Given the description of an element on the screen output the (x, y) to click on. 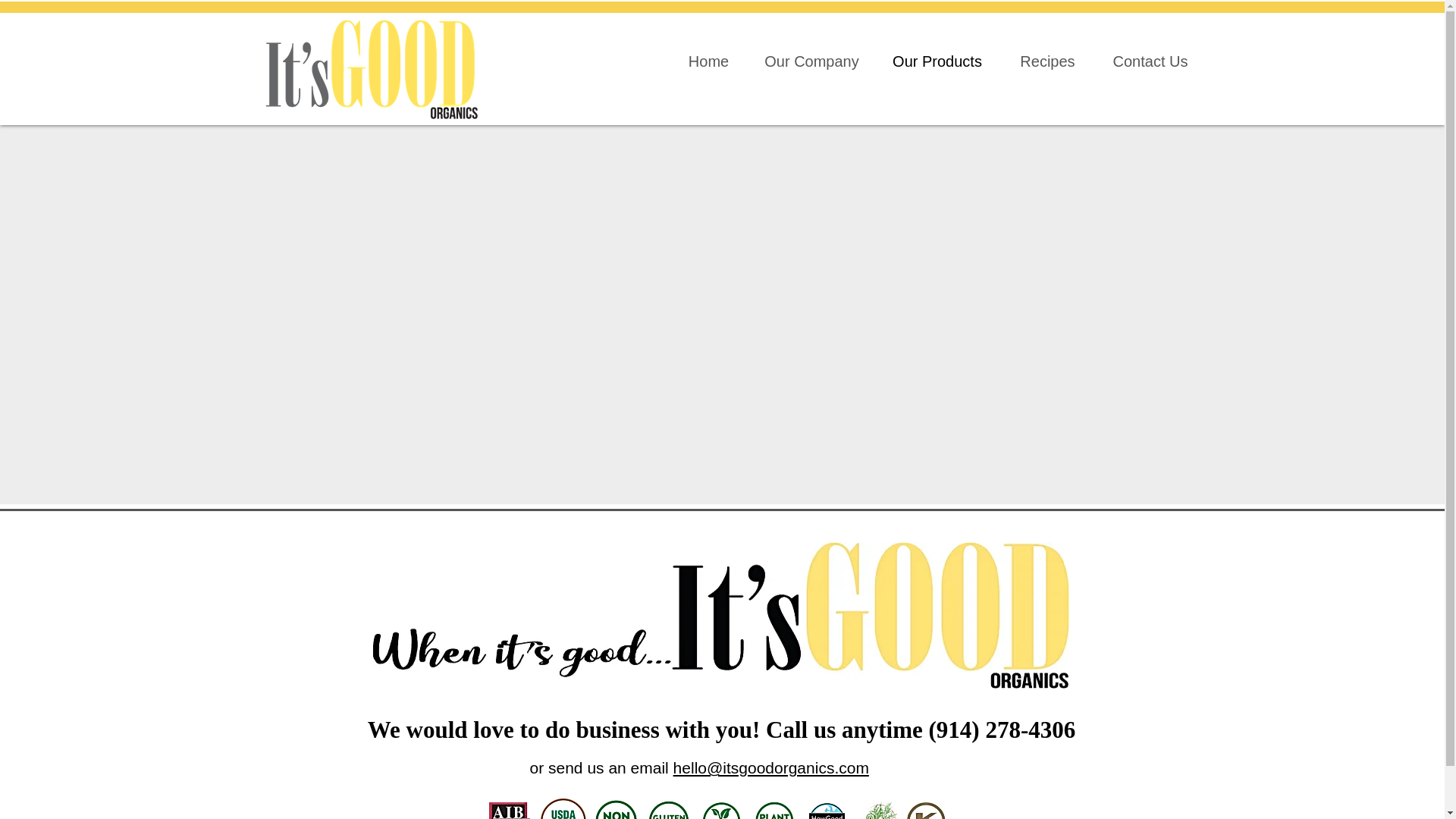
Contact Us (1149, 61)
Our Products (937, 61)
Home (708, 61)
Our Company (812, 61)
or send us an email (600, 767)
Recipes (1046, 61)
